Given the description of an element on the screen output the (x, y) to click on. 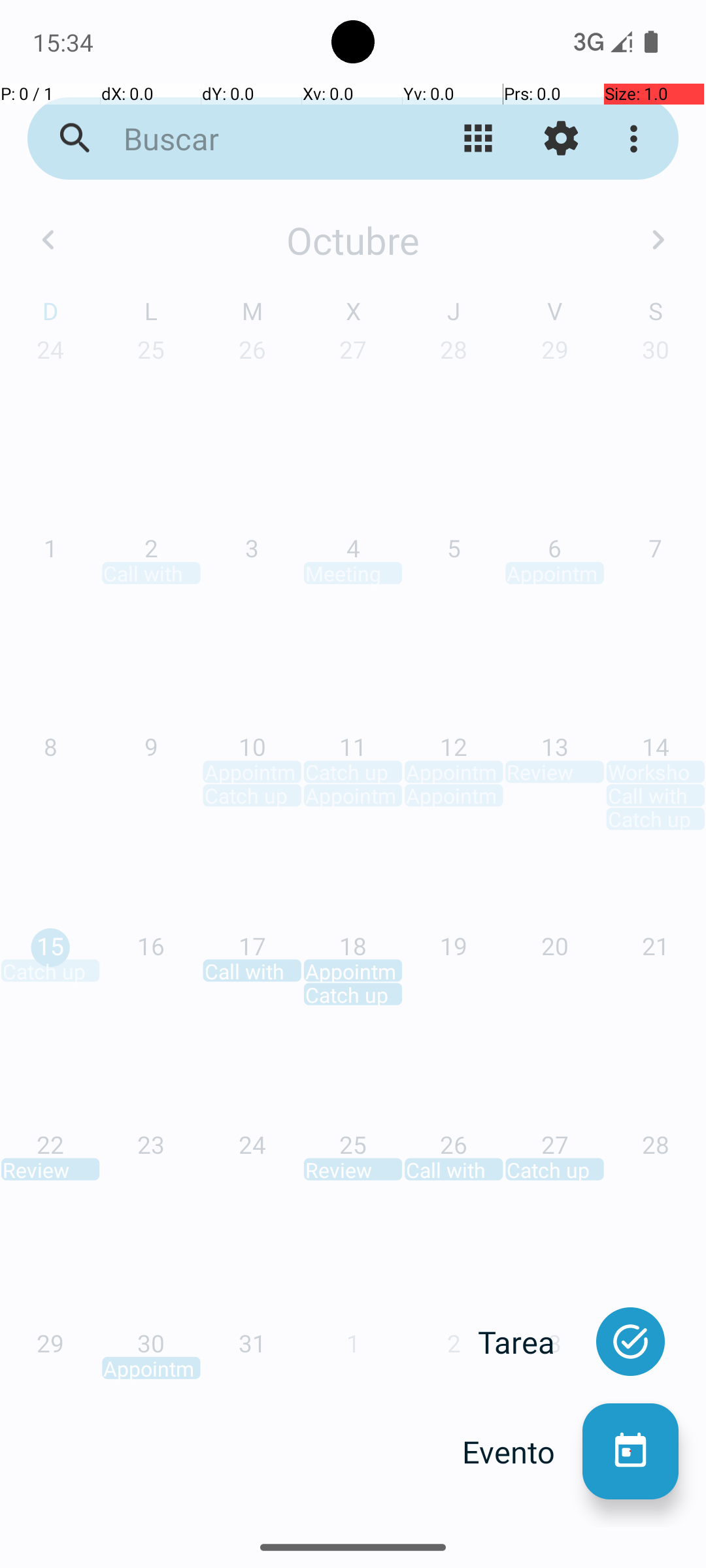
Tarea Element type: android.widget.TextView (529, 1341)
Evento Element type: android.widget.TextView (522, 1451)
